Given the description of an element on the screen output the (x, y) to click on. 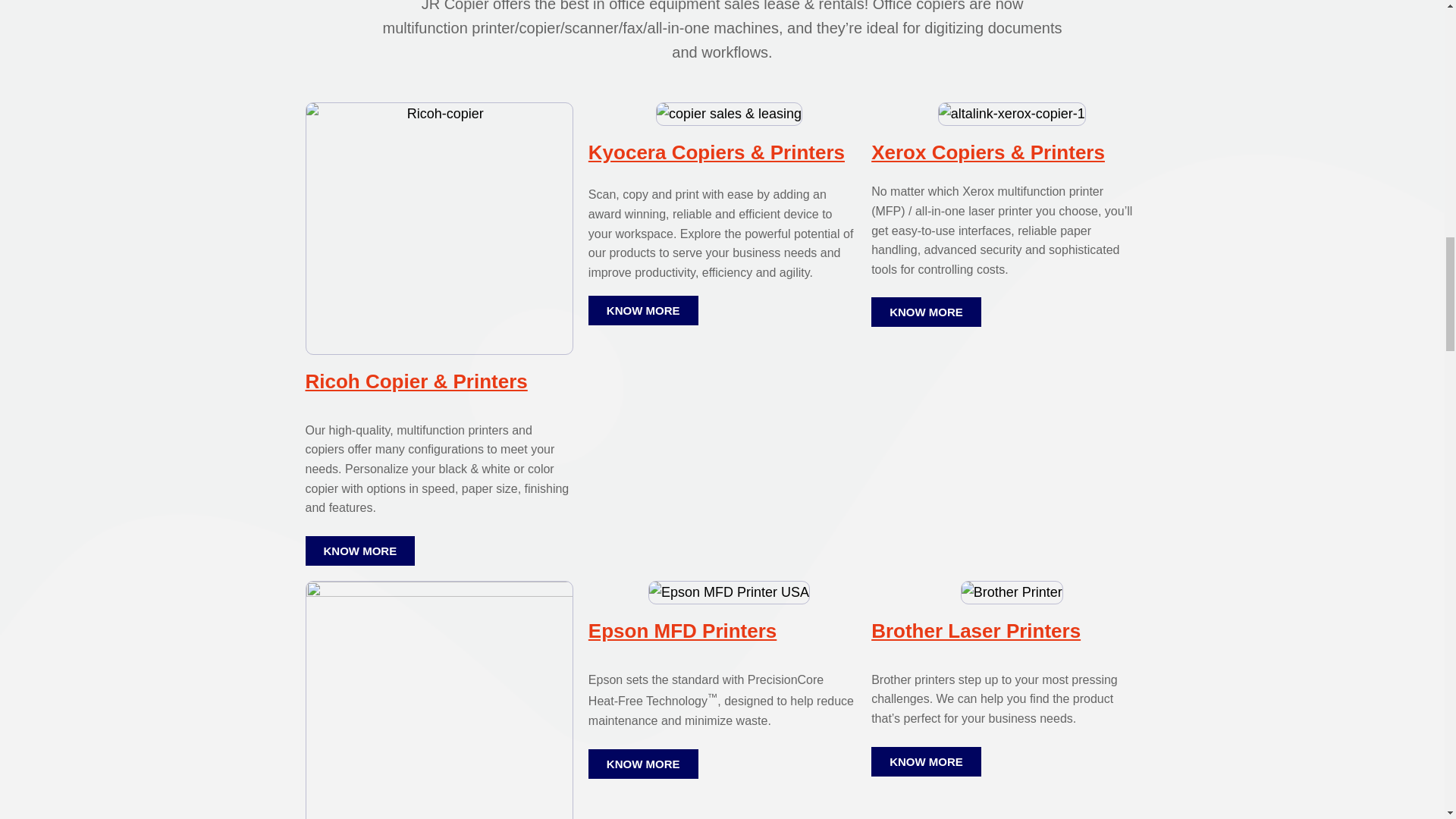
Epson MFD Printers (682, 630)
Brother Laser Printers (975, 630)
KNOW MORE (643, 763)
altalink-xerox-copier-1 (1011, 114)
KNOW MORE (359, 550)
KNOW MORE (925, 311)
KNOW MORE (925, 761)
Brother Printer (1011, 592)
Epson MFD Printer USA (728, 592)
KNOW MORE (643, 310)
